Given the description of an element on the screen output the (x, y) to click on. 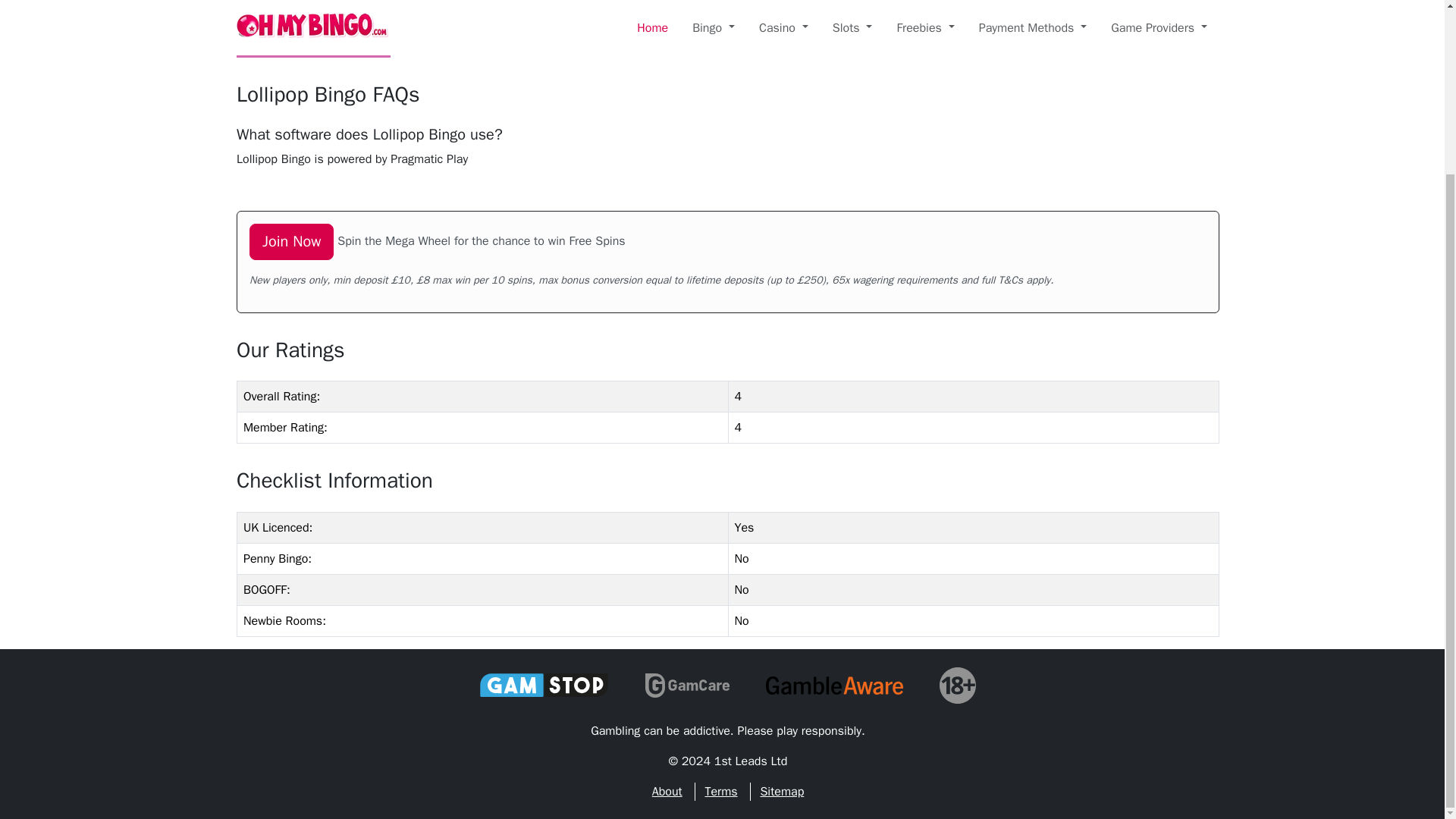
About (667, 791)
Join Now (290, 241)
Sitemap (781, 791)
Terms (720, 791)
Lollipop Bingo (312, 28)
